Given the description of an element on the screen output the (x, y) to click on. 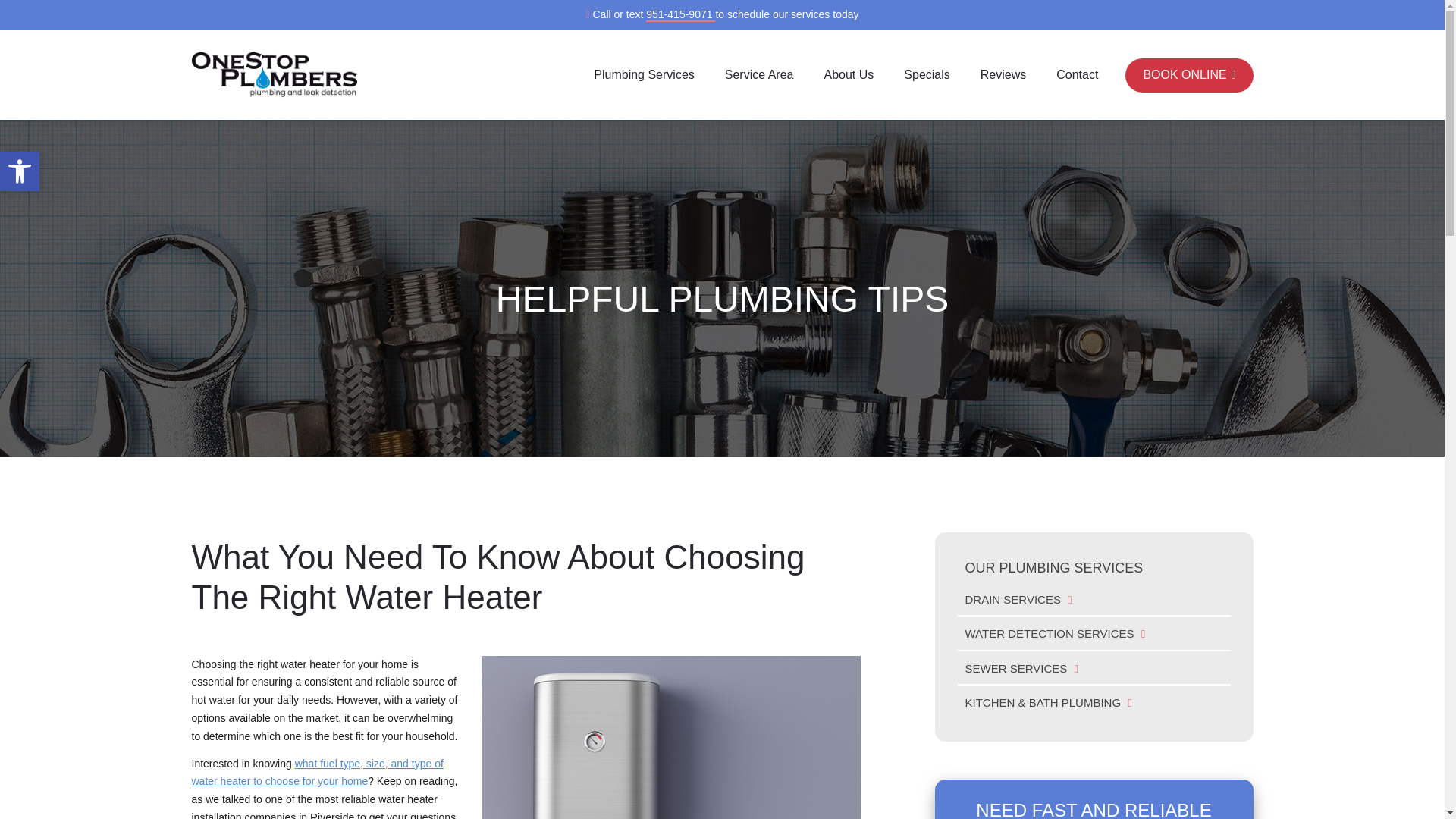
Accessibility Tools (19, 170)
Accessibility Tools (19, 170)
Specials (926, 74)
About Us (848, 74)
Plumbing Services (644, 74)
Service Area (759, 74)
951-415-9071 (680, 15)
